Given the description of an element on the screen output the (x, y) to click on. 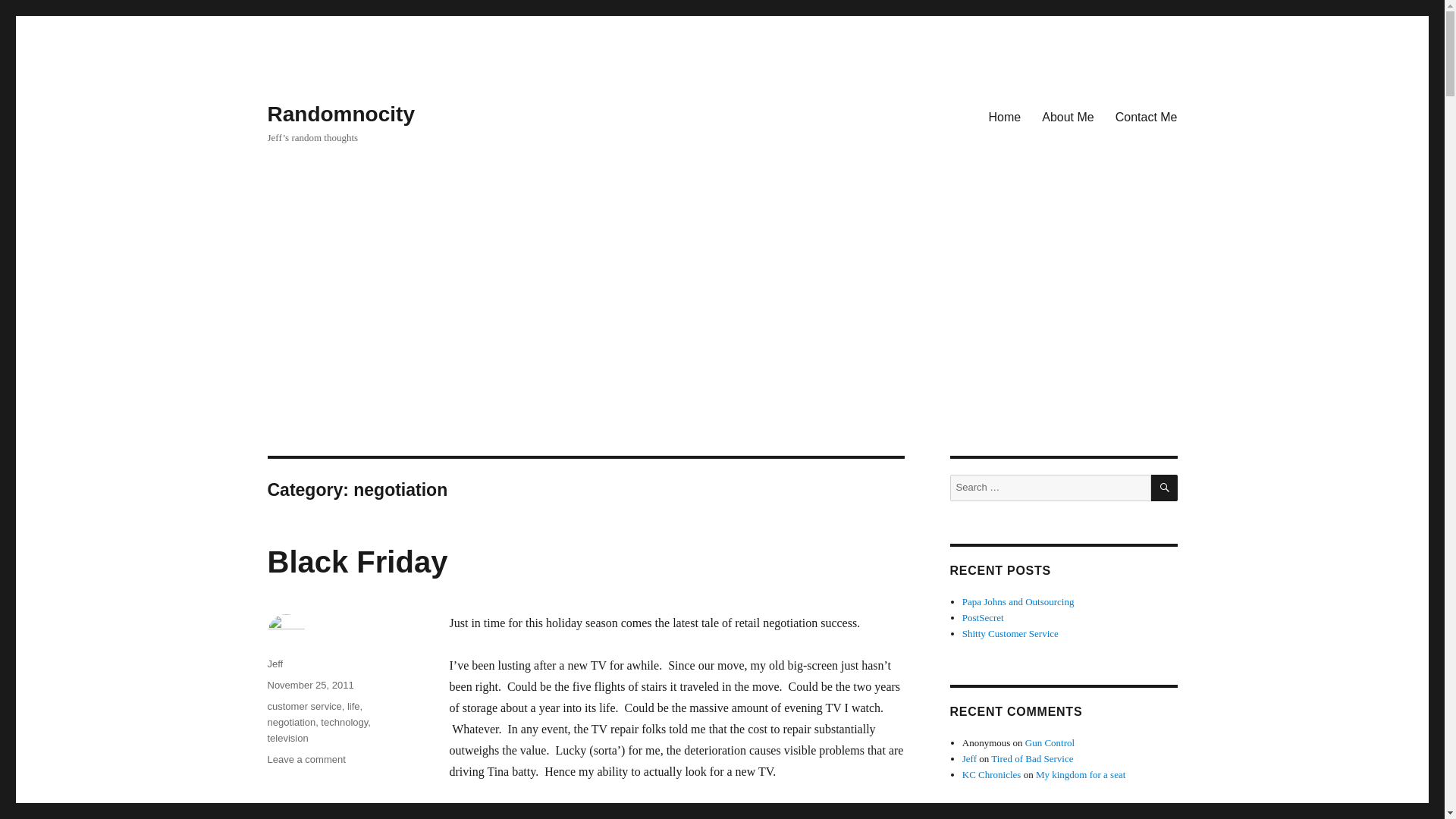
negotiation (290, 722)
technology (344, 722)
November 25, 2011 (309, 685)
Home (1005, 116)
Black Friday (356, 561)
About Me (1066, 116)
television (286, 737)
Randomnocity (339, 114)
life (353, 706)
